Given the description of an element on the screen output the (x, y) to click on. 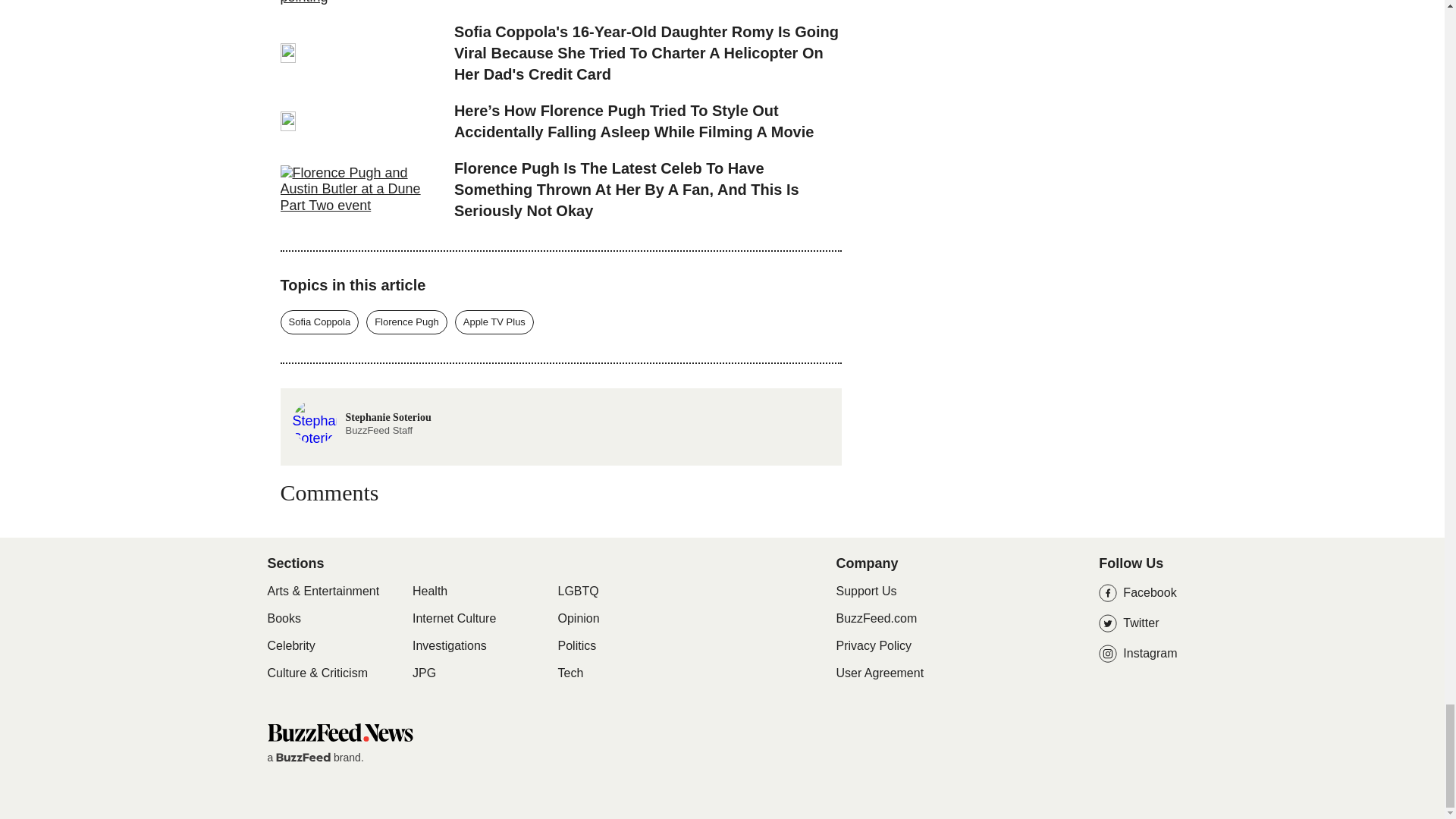
BuzzFeed (303, 757)
Florence Pugh (406, 322)
Sofia Coppola (320, 322)
Apple TV Plus (494, 322)
BuzzFeed News Home (339, 732)
